Given the description of an element on the screen output the (x, y) to click on. 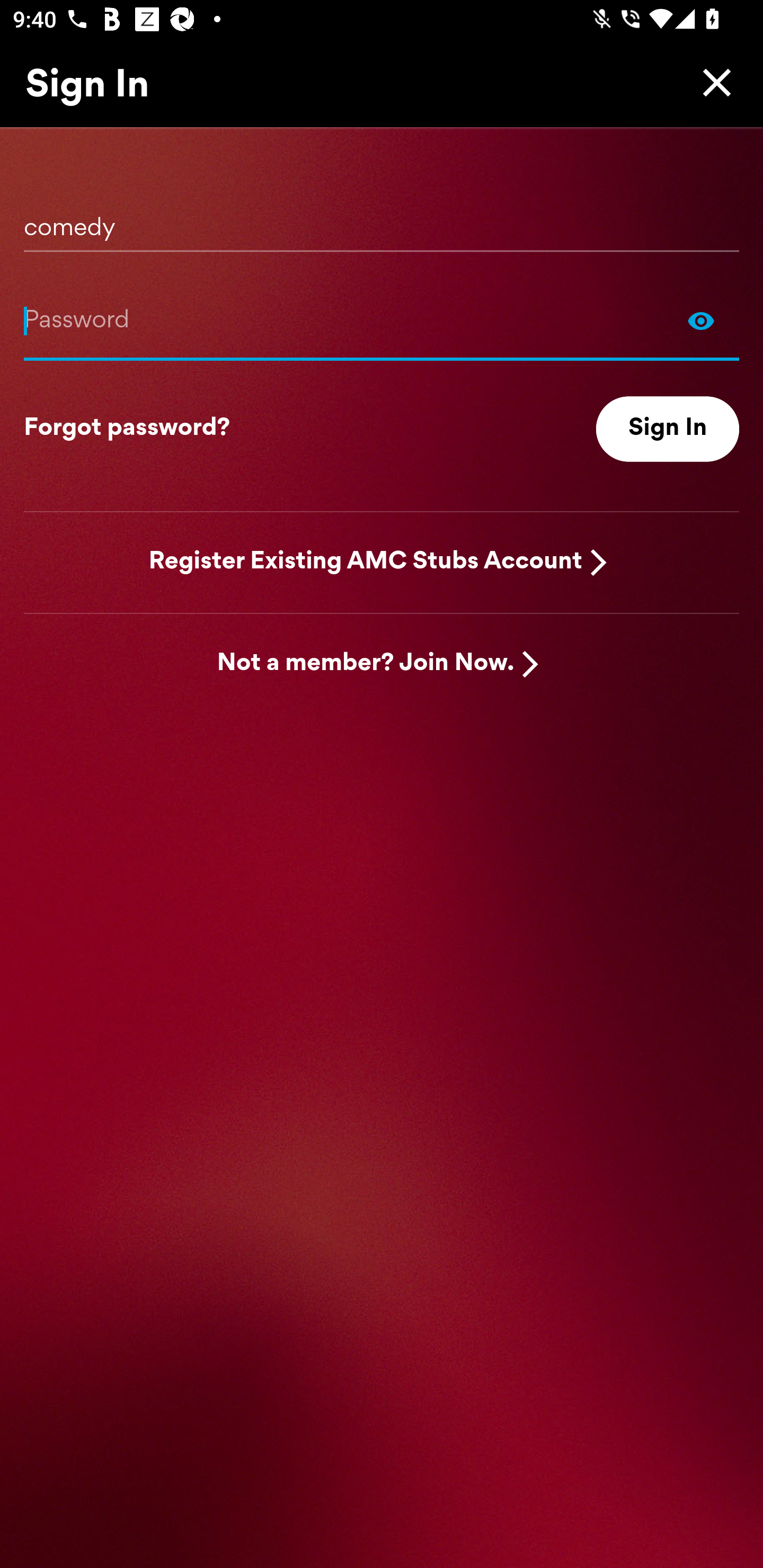
Close (712, 82)
comedy (381, 220)
Show Password (381, 320)
Show Password (701, 320)
Forgot password? (126, 428)
Sign In (667, 428)
Register Existing AMC Stubs Account (365, 561)
Not a member? Join Now. (365, 663)
